Given the description of an element on the screen output the (x, y) to click on. 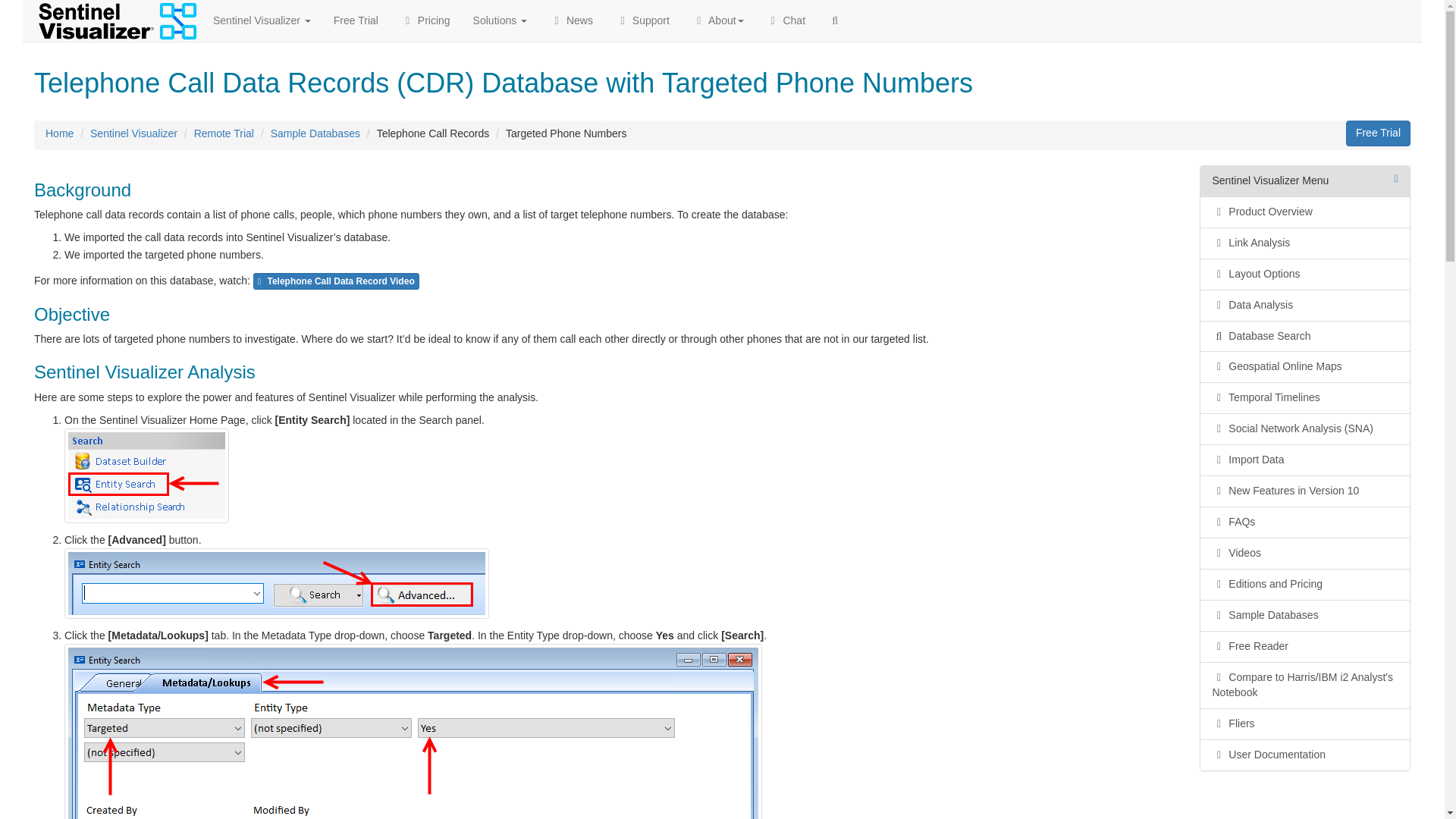
Free Trial (355, 20)
News (571, 20)
Pricing (425, 20)
Entity Search Advanced (276, 583)
Solutions (499, 20)
Entity Search (146, 475)
Entity Search Metadata Lookups (412, 731)
Support (642, 20)
Sentinel Visualizer (261, 20)
